Given the description of an element on the screen output the (x, y) to click on. 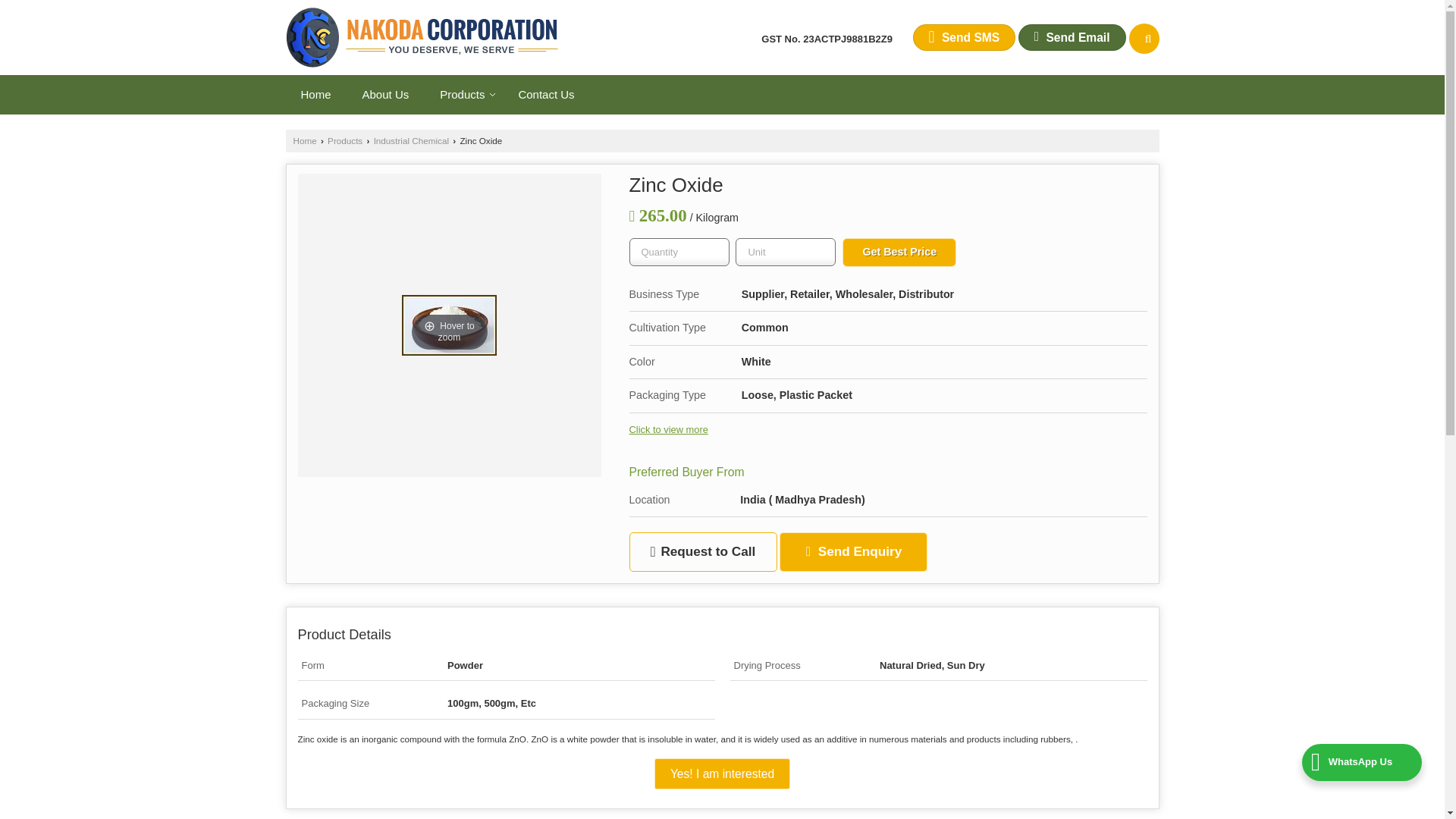
Send Email (1071, 37)
About Us (386, 94)
About Us (386, 94)
Home (315, 94)
Search (1143, 38)
Products (463, 94)
Send SMS (964, 37)
Home (315, 94)
Nakoda Corporation (421, 37)
Products (463, 94)
